Given the description of an element on the screen output the (x, y) to click on. 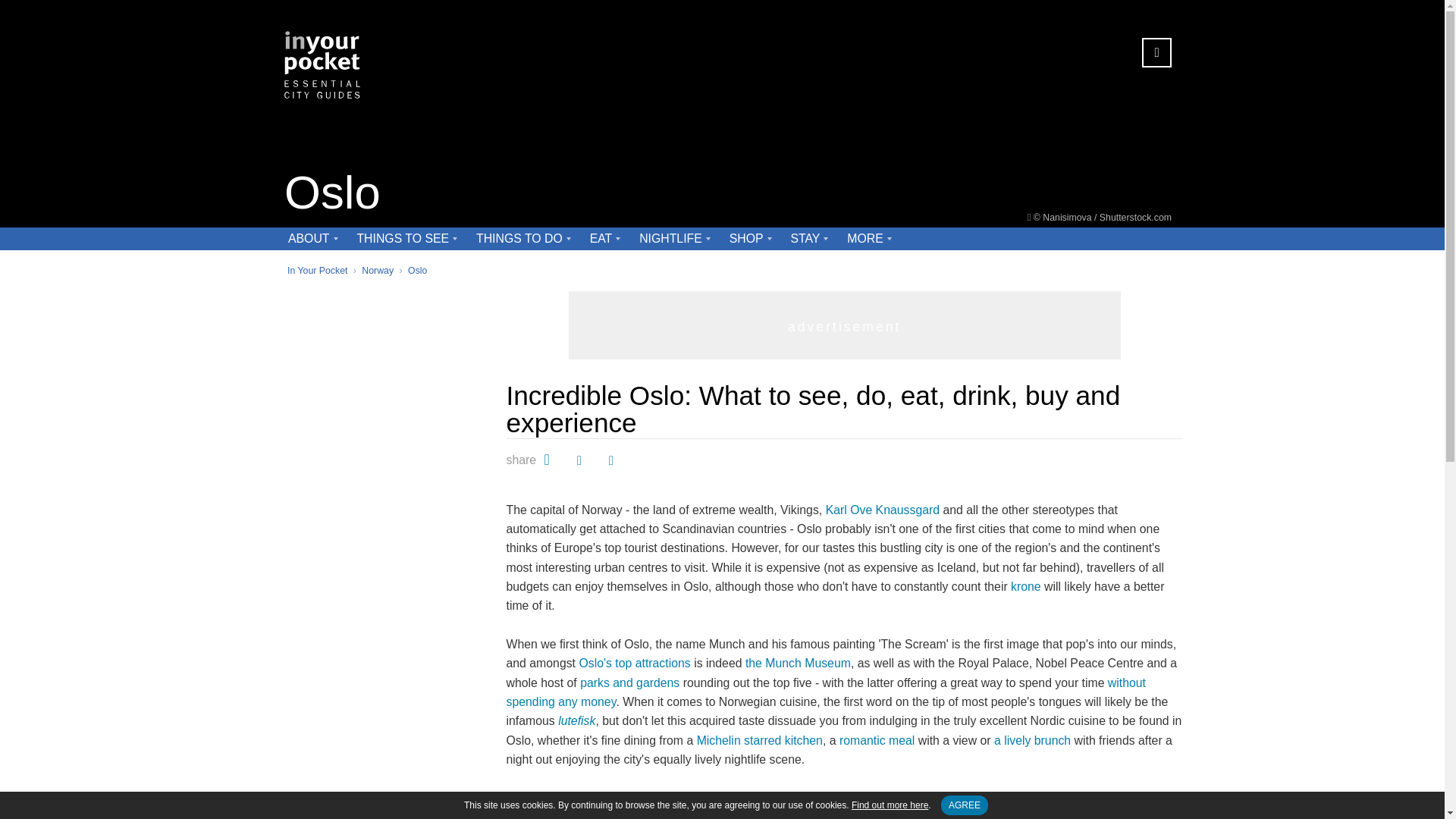
Oslo (416, 270)
Norway (377, 270)
Oslo (331, 194)
In Your Pocket (316, 270)
